Given the description of an element on the screen output the (x, y) to click on. 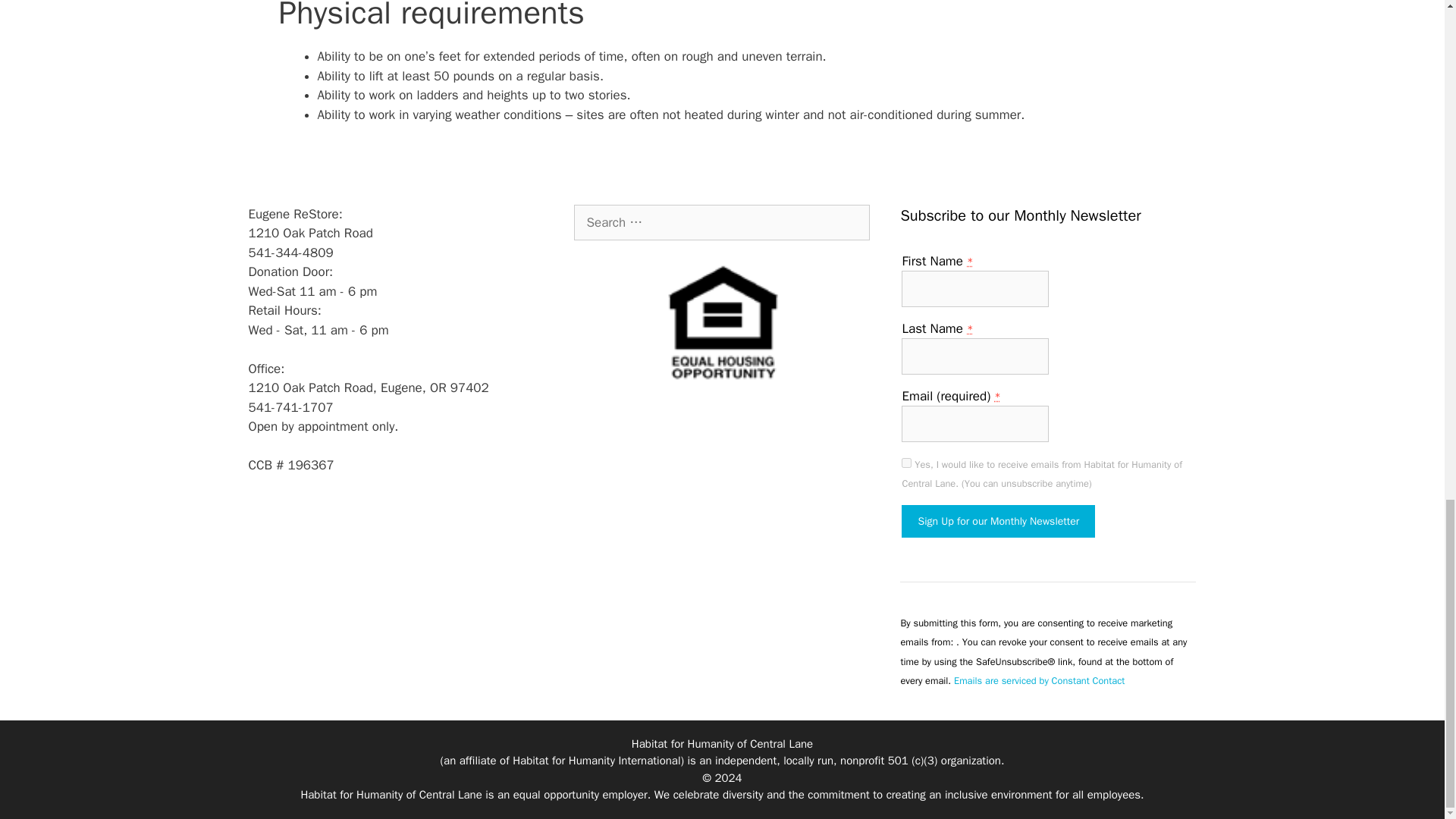
Sign Up for our Monthly Newsletter (997, 521)
1 (906, 462)
Search for: (721, 222)
